Given the description of an element on the screen output the (x, y) to click on. 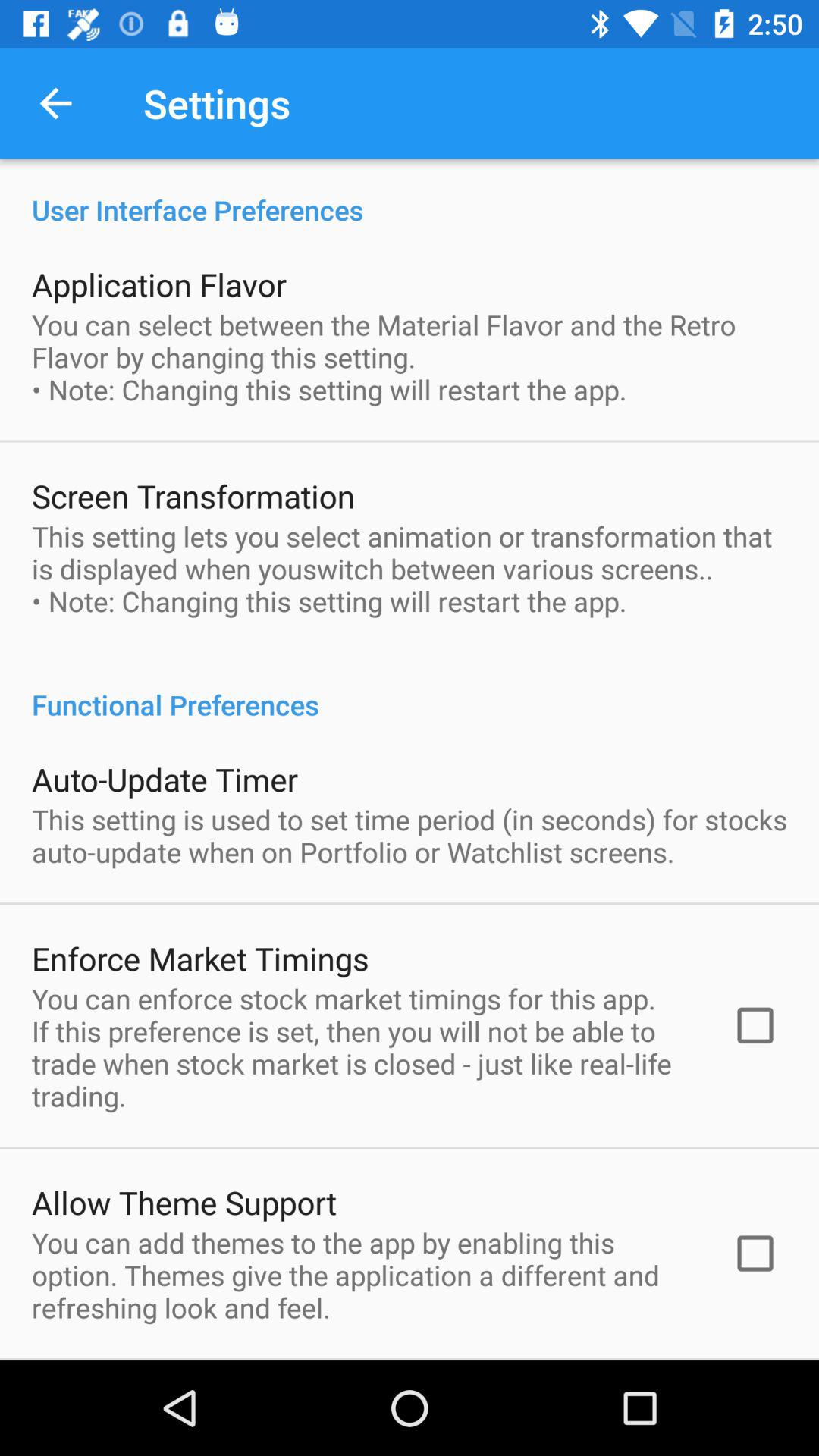
swipe until user interface preferences (409, 193)
